Given the description of an element on the screen output the (x, y) to click on. 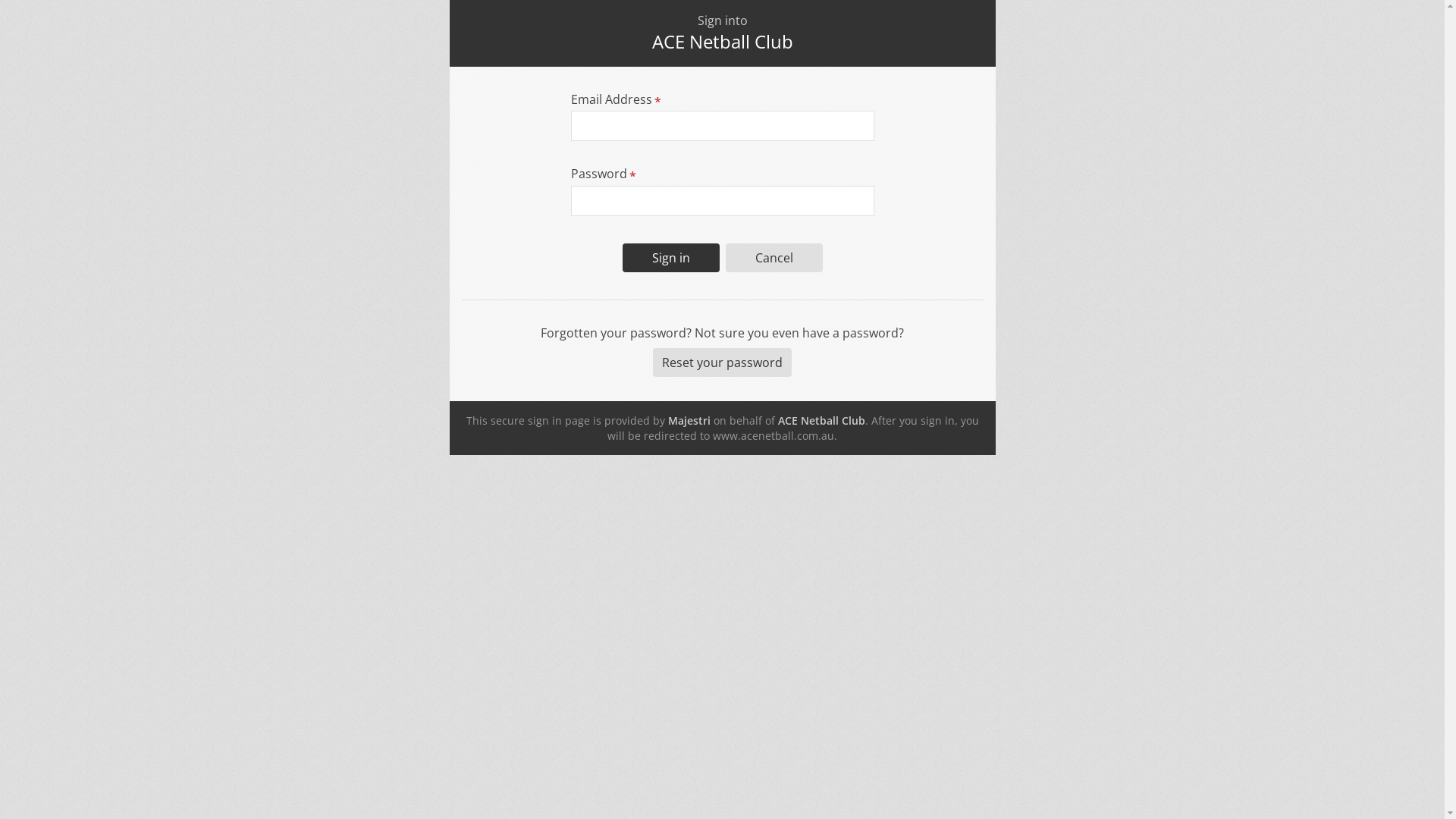
Reset your password Element type: text (721, 362)
ACE Netball Club Element type: text (821, 420)
Cancel Element type: text (773, 257)
Majestri Element type: text (688, 420)
Sign in Element type: text (669, 257)
